Given the description of an element on the screen output the (x, y) to click on. 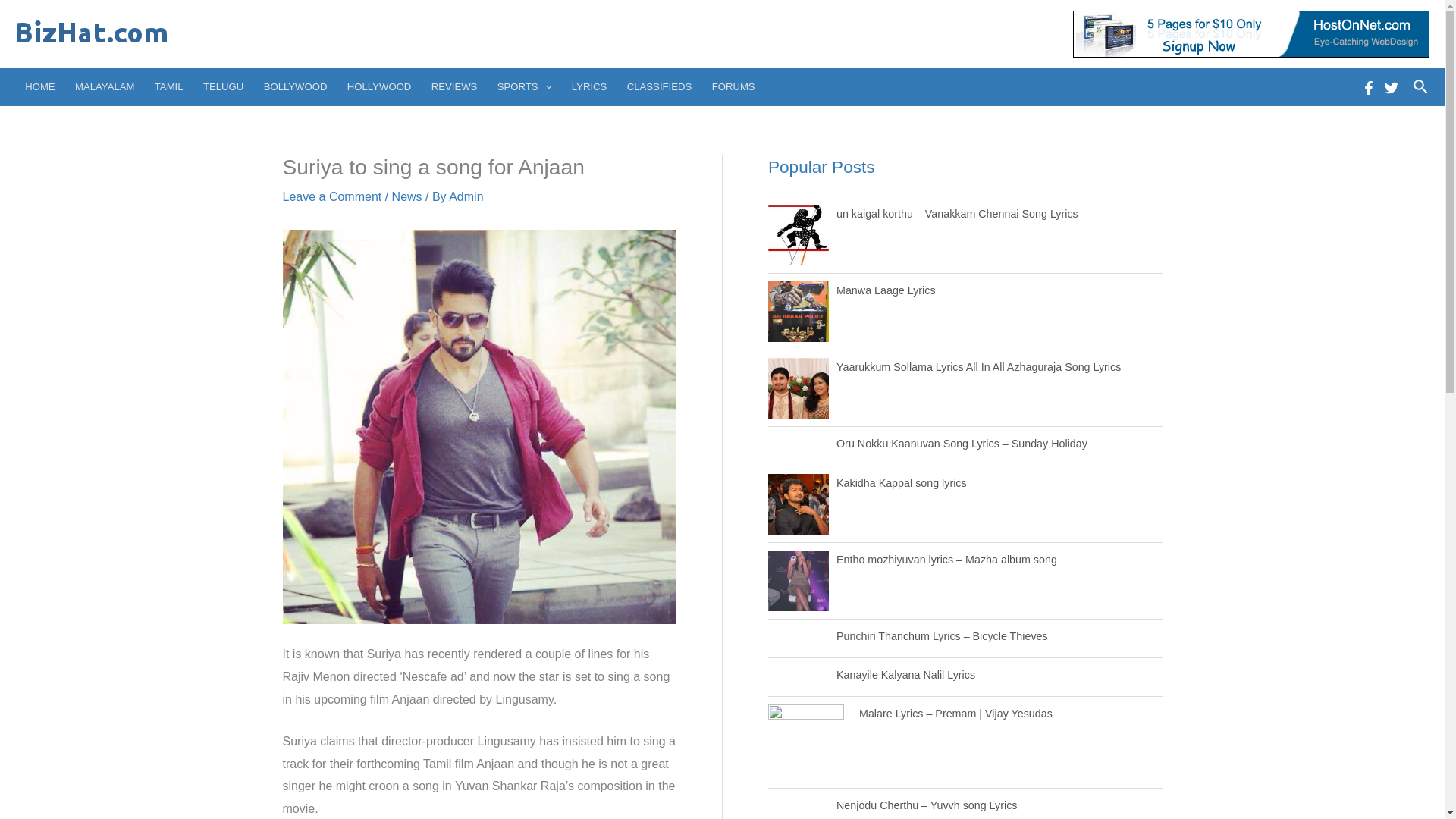
TAMIL (168, 86)
REVIEWS (454, 86)
LYRICS (589, 86)
SPORTS (524, 86)
View all posts by Admin (465, 196)
TELUGU (223, 86)
CLASSIFIEDS (659, 86)
BOLLYWOOD (294, 86)
MALAYALAM (104, 86)
HOLLYWOOD (379, 86)
HOME (39, 86)
FORUMS (732, 86)
